Given the description of an element on the screen output the (x, y) to click on. 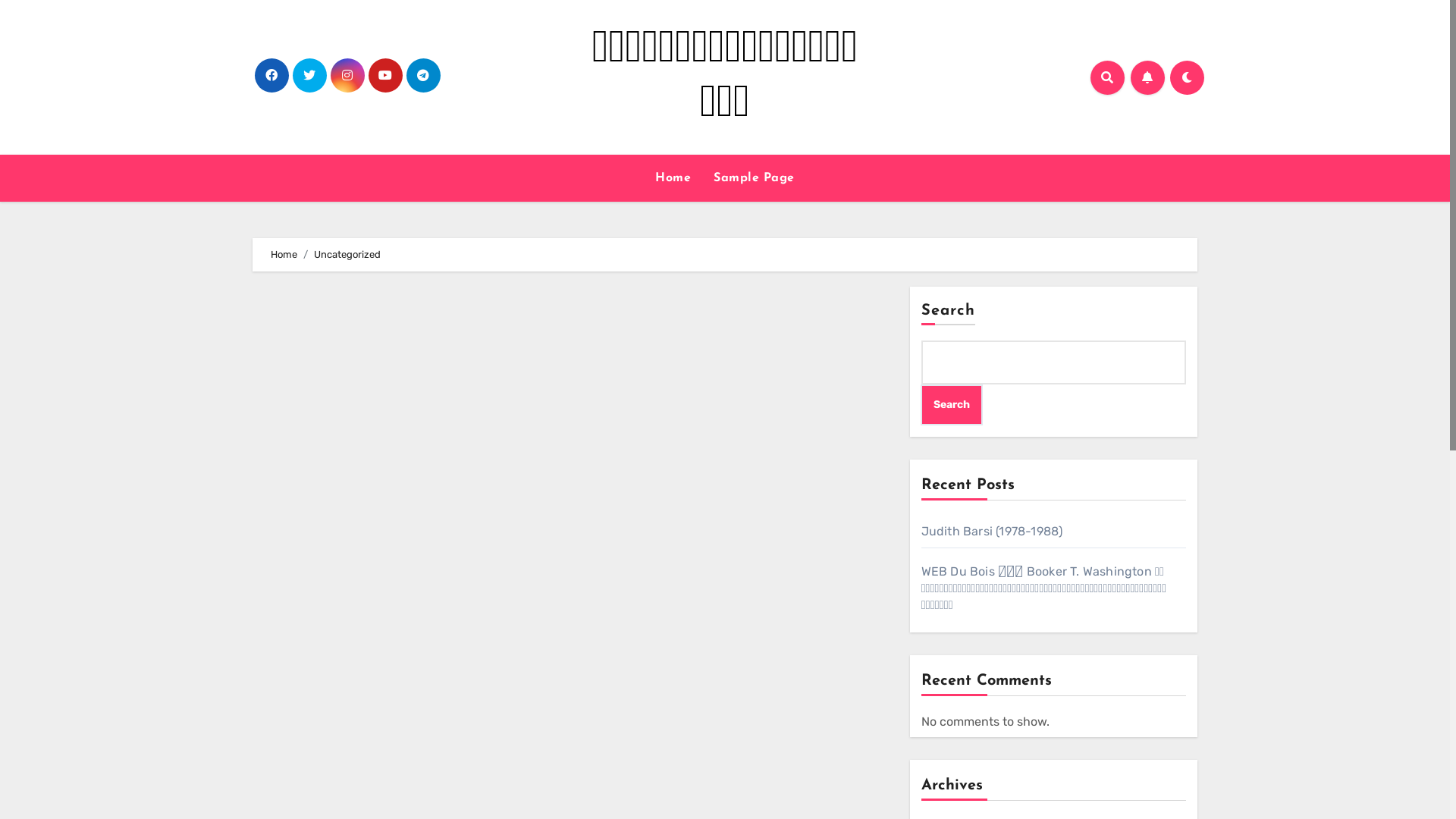
Sample Page Element type: text (754, 177)
Judith Barsi (1978-1988) Element type: text (992, 531)
Search Element type: text (951, 404)
Home Element type: text (283, 254)
Home Element type: text (672, 177)
